Given the description of an element on the screen output the (x, y) to click on. 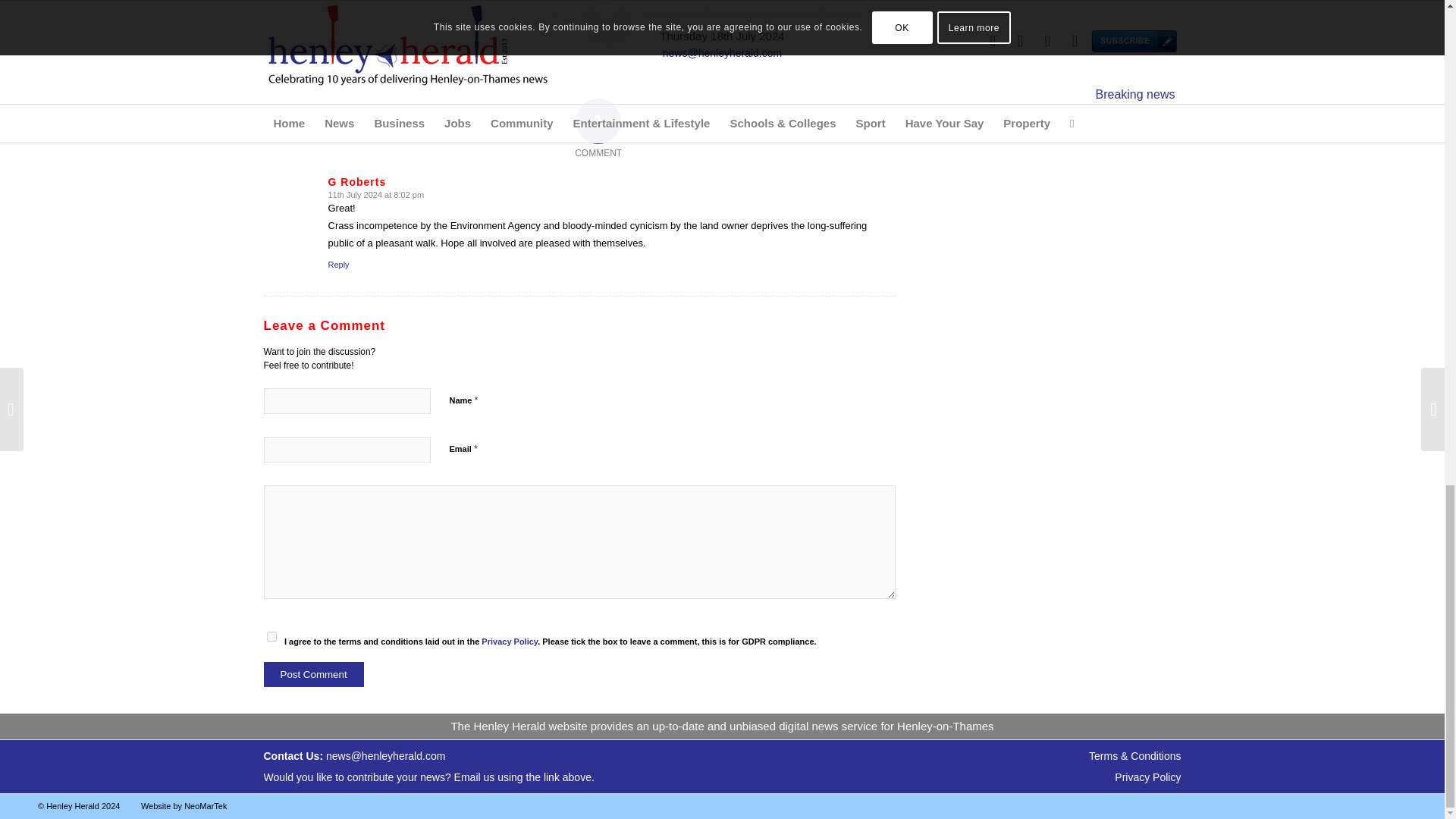
yes (271, 636)
Post Comment (313, 674)
